Given the description of an element on the screen output the (x, y) to click on. 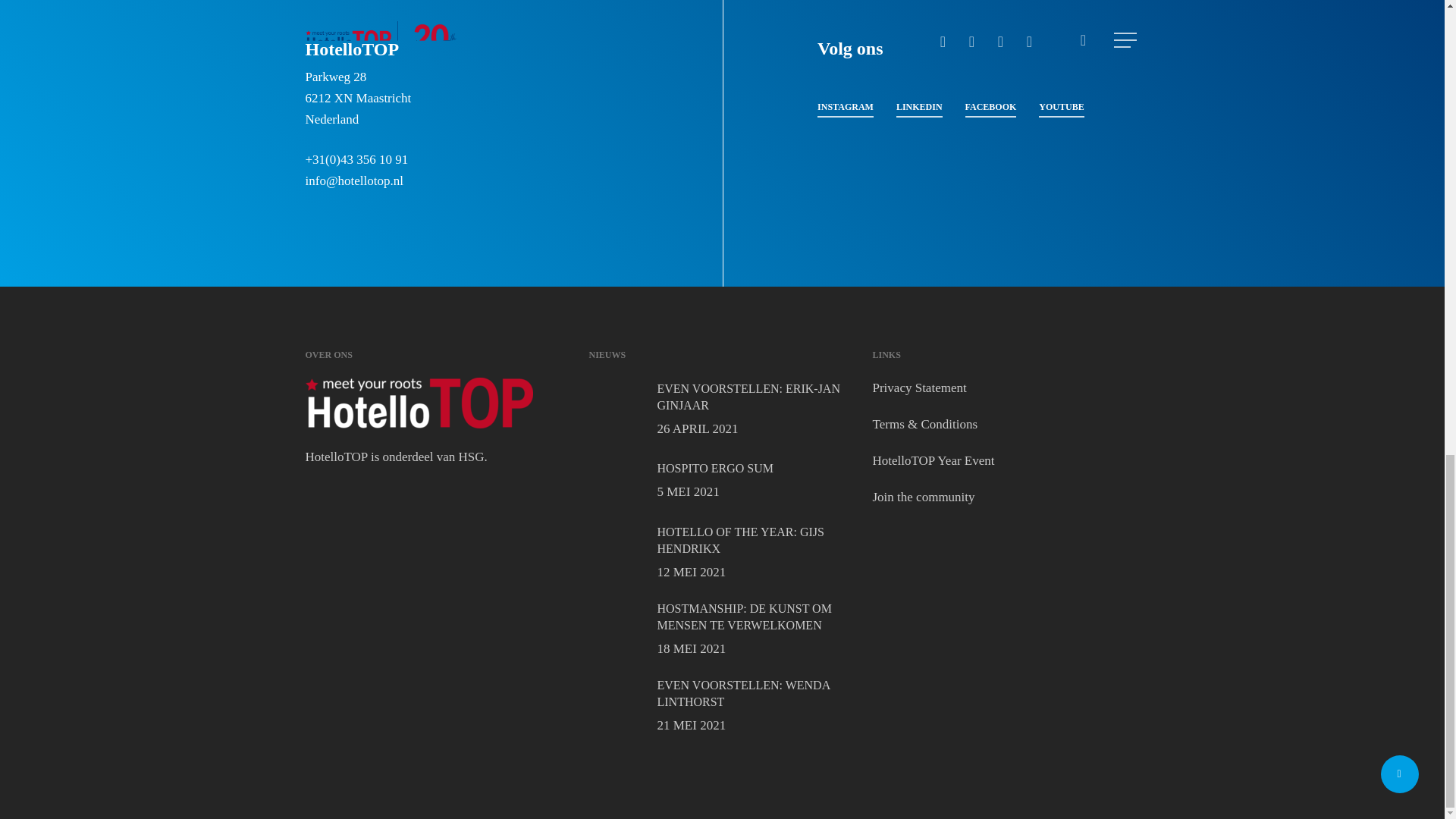
HSG (471, 456)
Join the community (722, 409)
Privacy Statement (923, 496)
FACEBOOK (919, 387)
YOUTUBE (722, 630)
INSTAGRAM (990, 106)
